Given the description of an element on the screen output the (x, y) to click on. 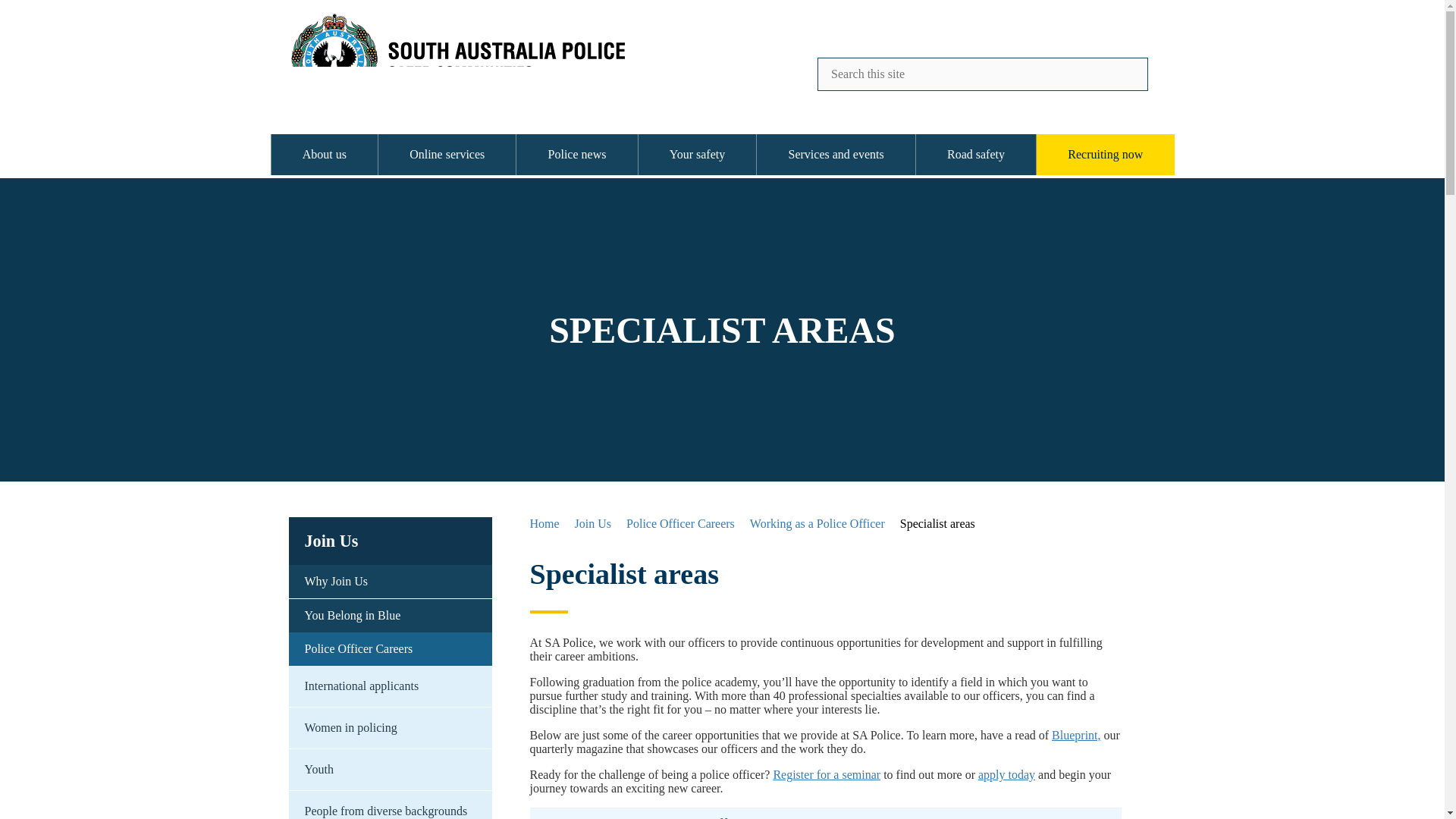
Your safety (698, 154)
Register for a seminar (826, 774)
go (1126, 73)
Police news (576, 154)
Submit button (1126, 73)
Online services (446, 154)
Search this site input (982, 73)
go (1126, 73)
